Given the description of an element on the screen output the (x, y) to click on. 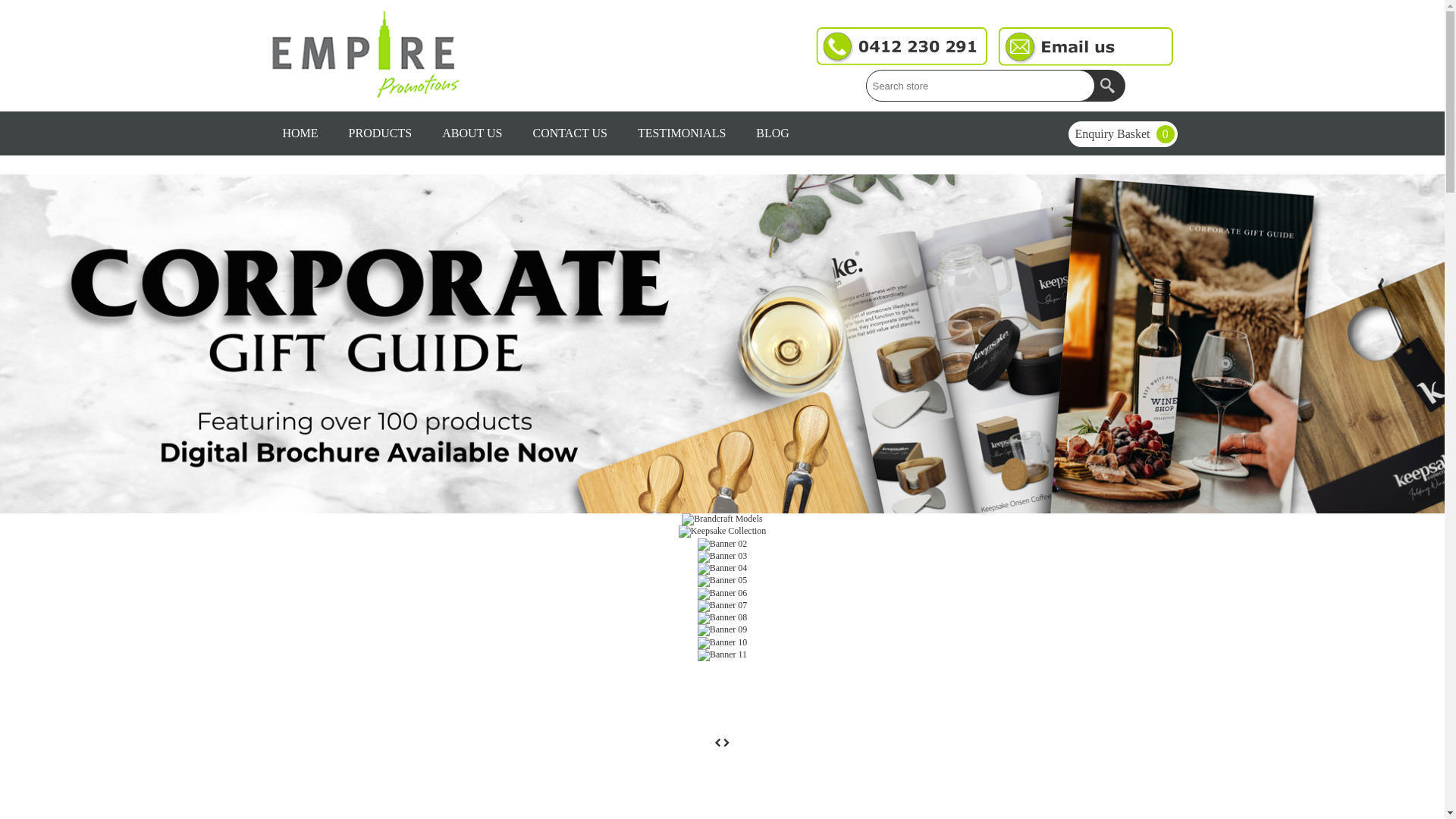
Next Element type: text (726, 742)
TESTIMONIALS Element type: text (681, 133)
BLOG Element type: text (772, 133)
PRODUCTS Element type: text (380, 133)
ABOUT US Element type: text (471, 133)
CONTACT US Element type: text (569, 133)
Search Element type: text (1108, 85)
HOME Element type: text (299, 133)
Previous Element type: text (718, 742)
